Given the description of an element on the screen output the (x, y) to click on. 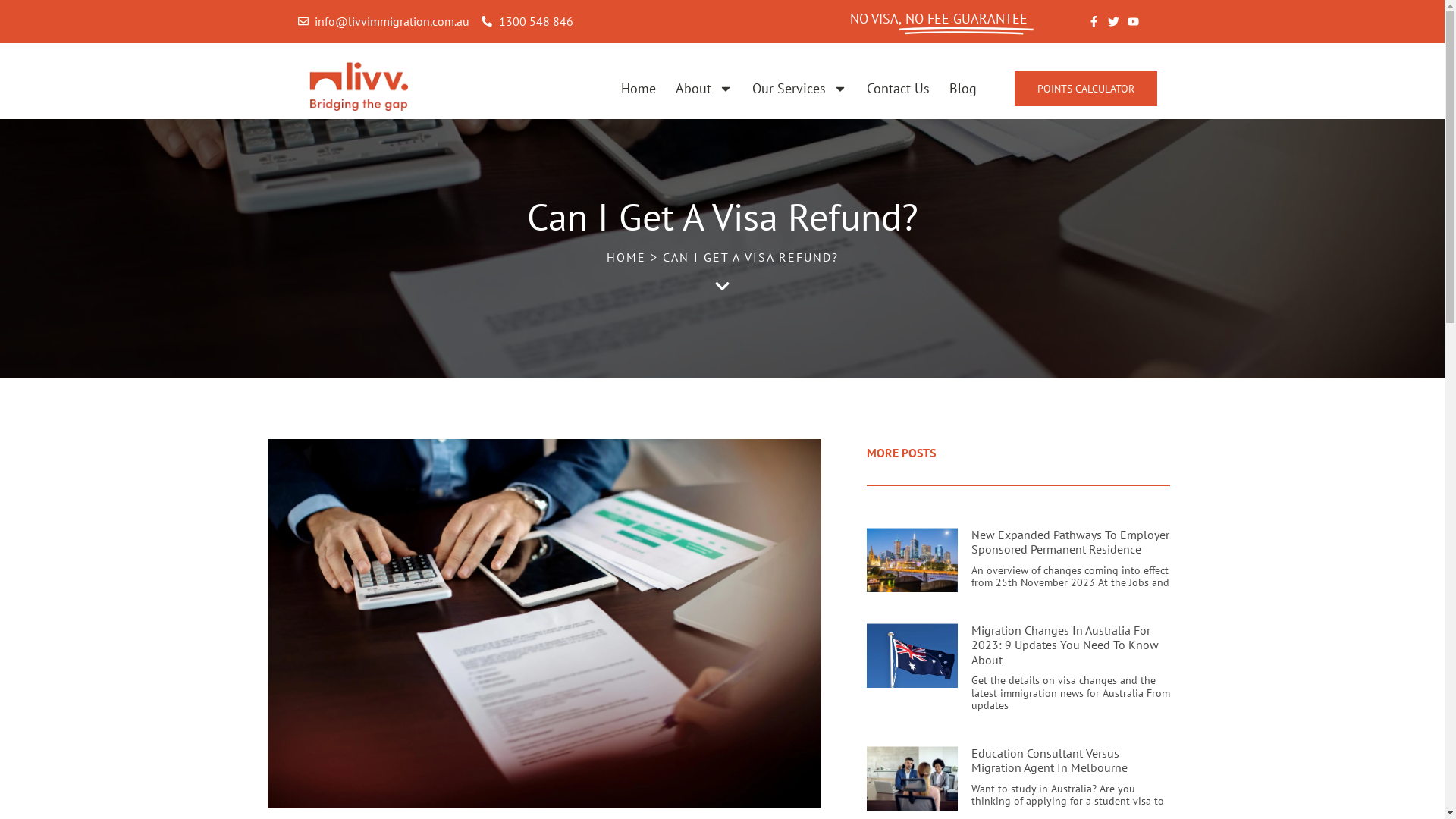
Contact Us Element type: text (897, 88)
Our Services Element type: text (799, 88)
1300 548 846 Element type: text (527, 21)
NO VISA, NO FEE GUARANTEE Element type: text (937, 18)
About Element type: text (703, 88)
Home Element type: text (638, 88)
Education Consultant Versus Migration Agent In Melbourne Element type: text (1048, 760)
info@livvimmigration.com.au Element type: text (383, 21)
POINTS CALCULATOR Element type: text (1085, 88)
Blog Element type: text (962, 88)
